Given the description of an element on the screen output the (x, y) to click on. 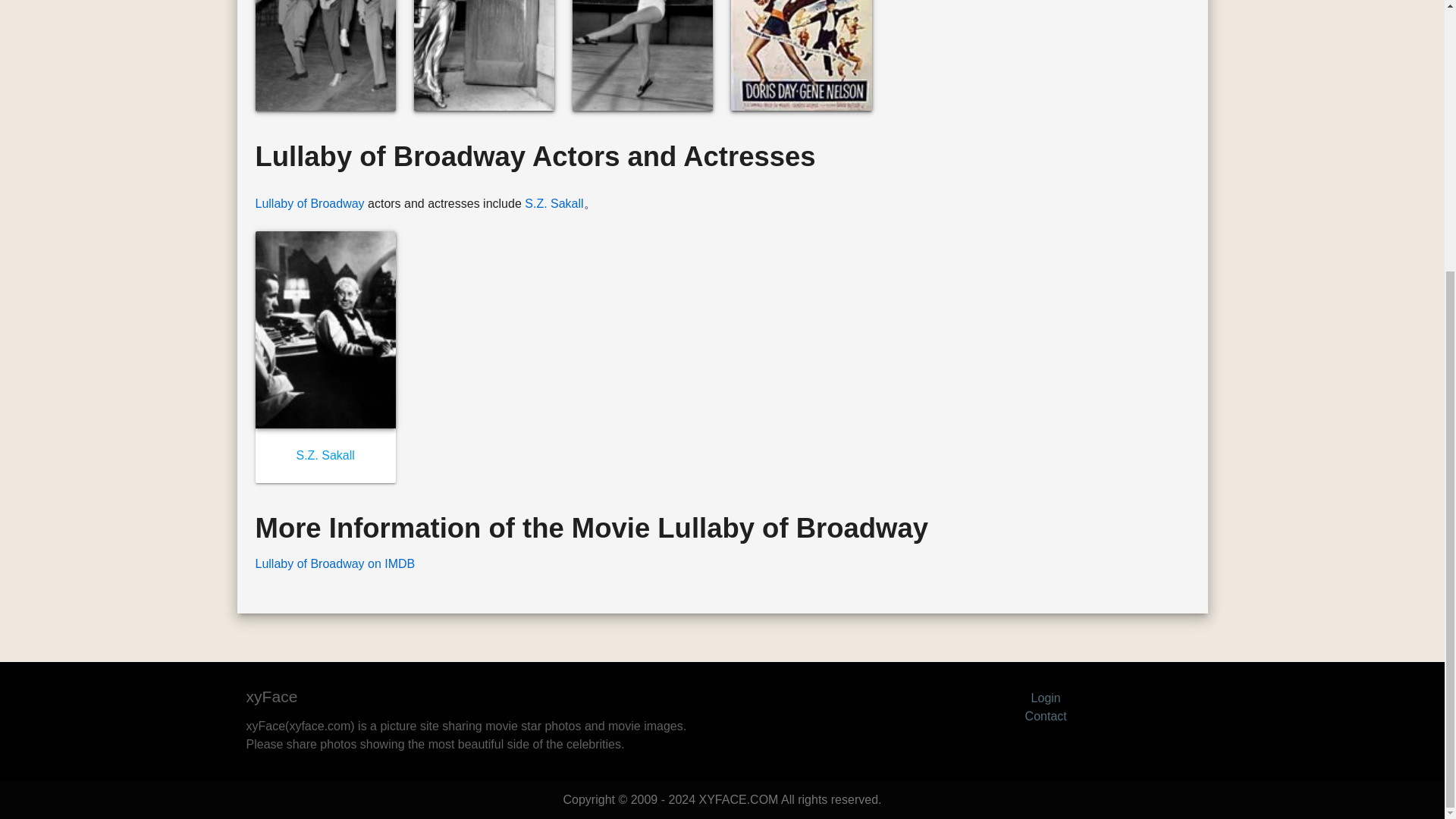
Contact (1046, 716)
S.Z. Sakall (553, 203)
Lullaby of Broadway (309, 203)
Login (1045, 697)
Lullaby of Broadway on IMDB (334, 563)
S.Z. Sakall (324, 454)
